Given the description of an element on the screen output the (x, y) to click on. 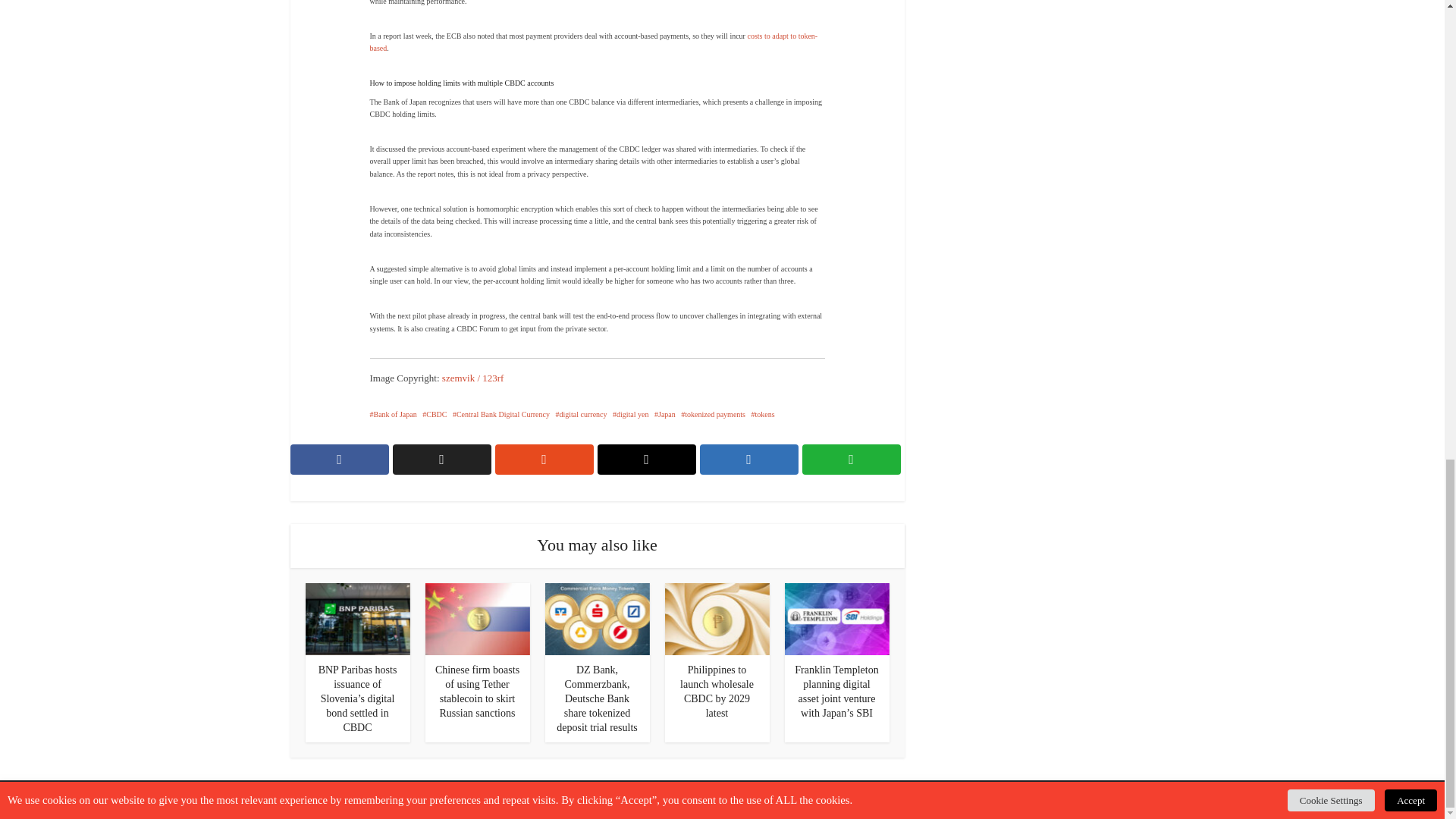
Philippines to launch wholesale CBDC by 2029 latest (716, 691)
Philippines to launch wholesale CBDC by 2029 latest (715, 618)
